Given the description of an element on the screen output the (x, y) to click on. 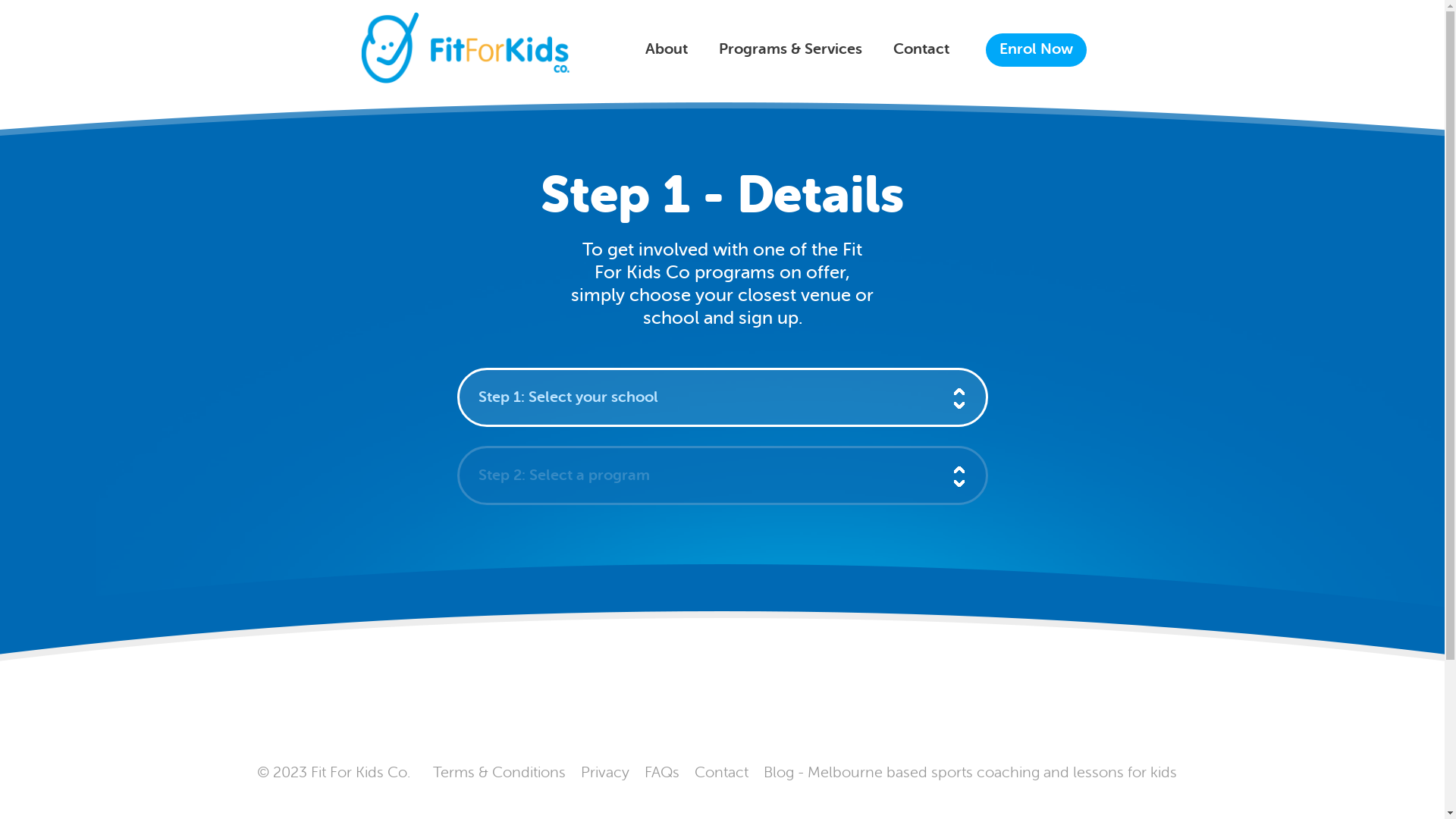
Contact Element type: text (921, 49)
Blog - Melbourne based sports coaching and lessons for kids Element type: text (969, 772)
Privacy Element type: text (604, 772)
Contact Element type: text (721, 772)
Enrol Now Element type: text (1025, 49)
Programs & Services Element type: text (790, 49)
About Element type: text (665, 49)
FAQs Element type: text (661, 772)
Terms & Conditions Element type: text (498, 772)
